Given the description of an element on the screen output the (x, y) to click on. 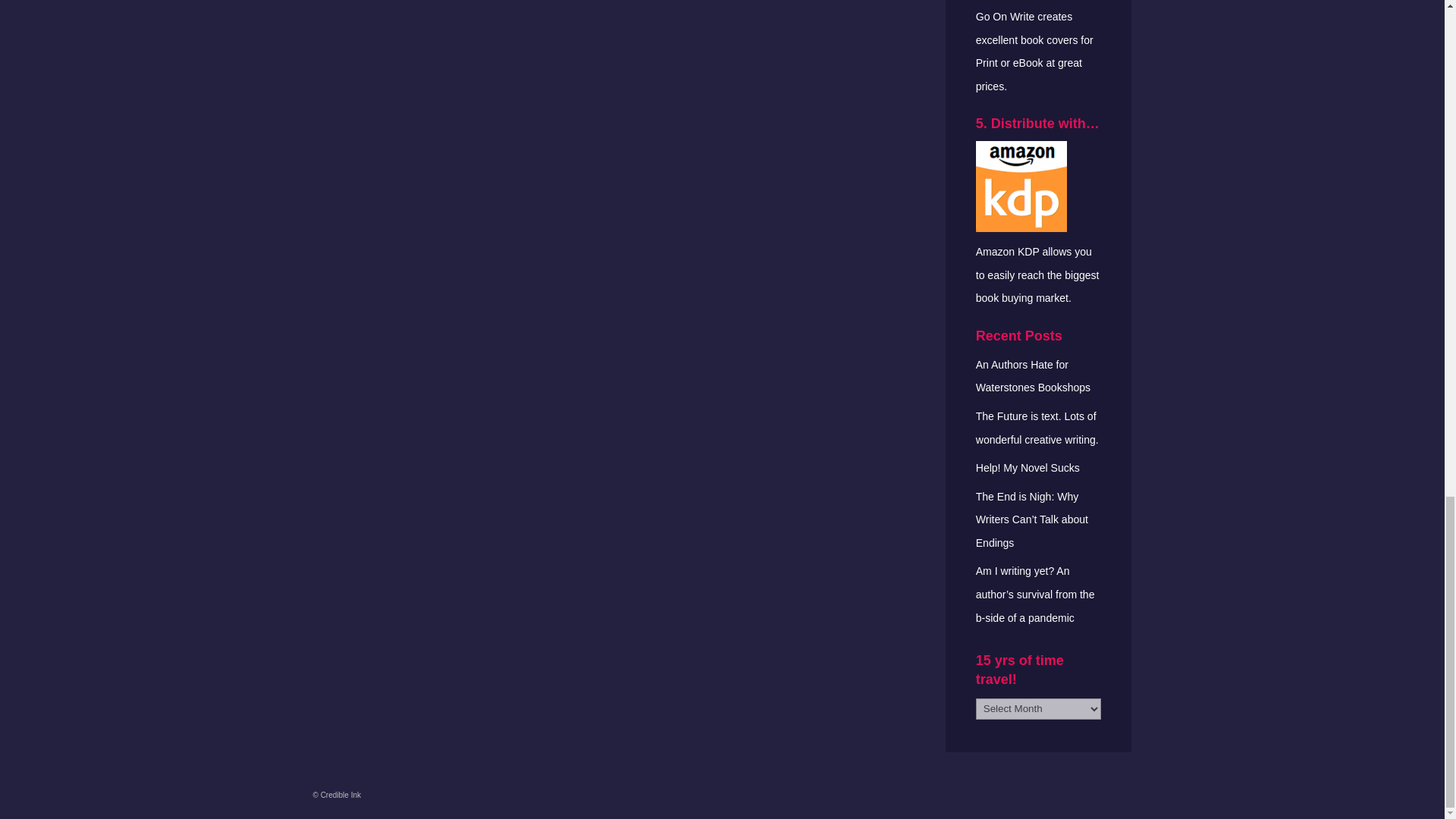
Amazon KDP (1007, 251)
Help! My Novel Sucks (1027, 467)
The Future is text. Lots of wonderful creative writing. (1037, 427)
An Authors Hate for Waterstones Bookshops (1032, 375)
Go On Write (1005, 16)
